Given the description of an element on the screen output the (x, y) to click on. 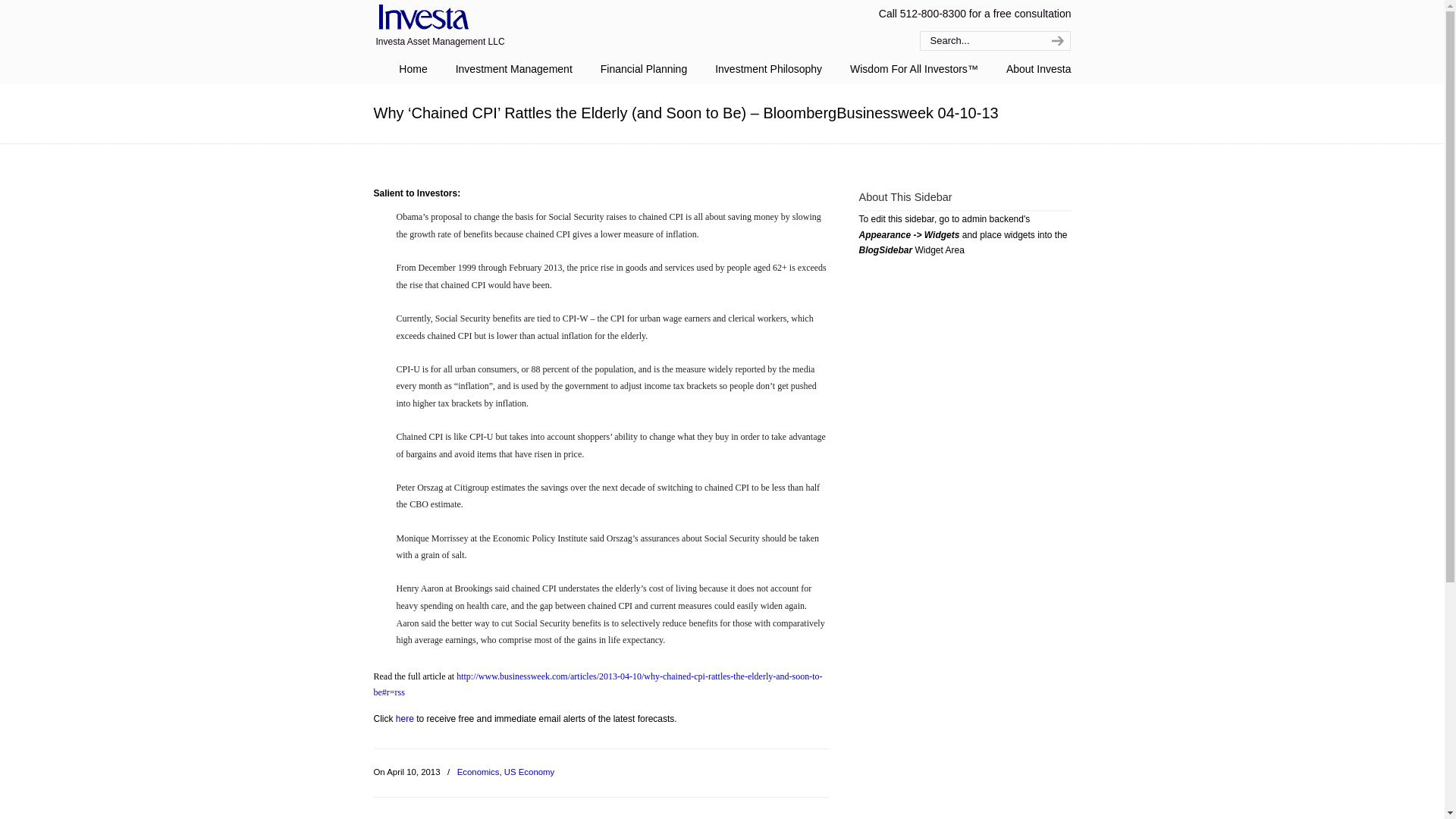
US Economy (528, 771)
Home (413, 69)
Investment Philosophy (768, 69)
here (404, 718)
About Investa (1038, 69)
Financial Planning (643, 69)
Investa Asset Management LLC (419, 17)
search (1055, 40)
search (1055, 40)
Investa Asset Management LLC (419, 17)
Investment Management (514, 69)
Economics (478, 771)
search (1055, 40)
Search... (978, 40)
